Given the description of an element on the screen output the (x, y) to click on. 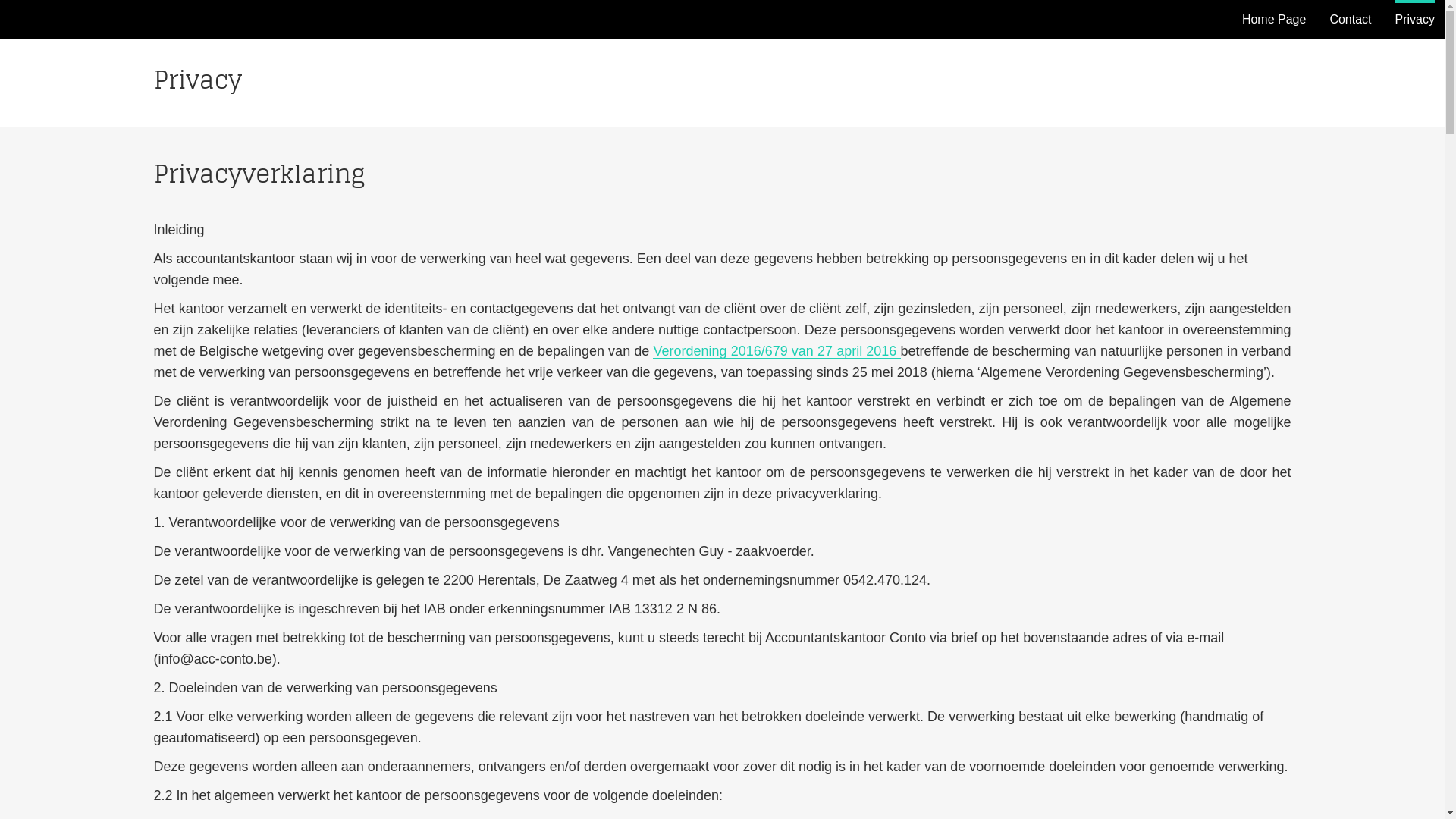
Verordening 2016/679 van 27 april 2016 Element type: text (776, 350)
Privacy Element type: text (1414, 19)
Contact Element type: text (1349, 19)
Home Page Element type: text (1274, 19)
